Given the description of an element on the screen output the (x, y) to click on. 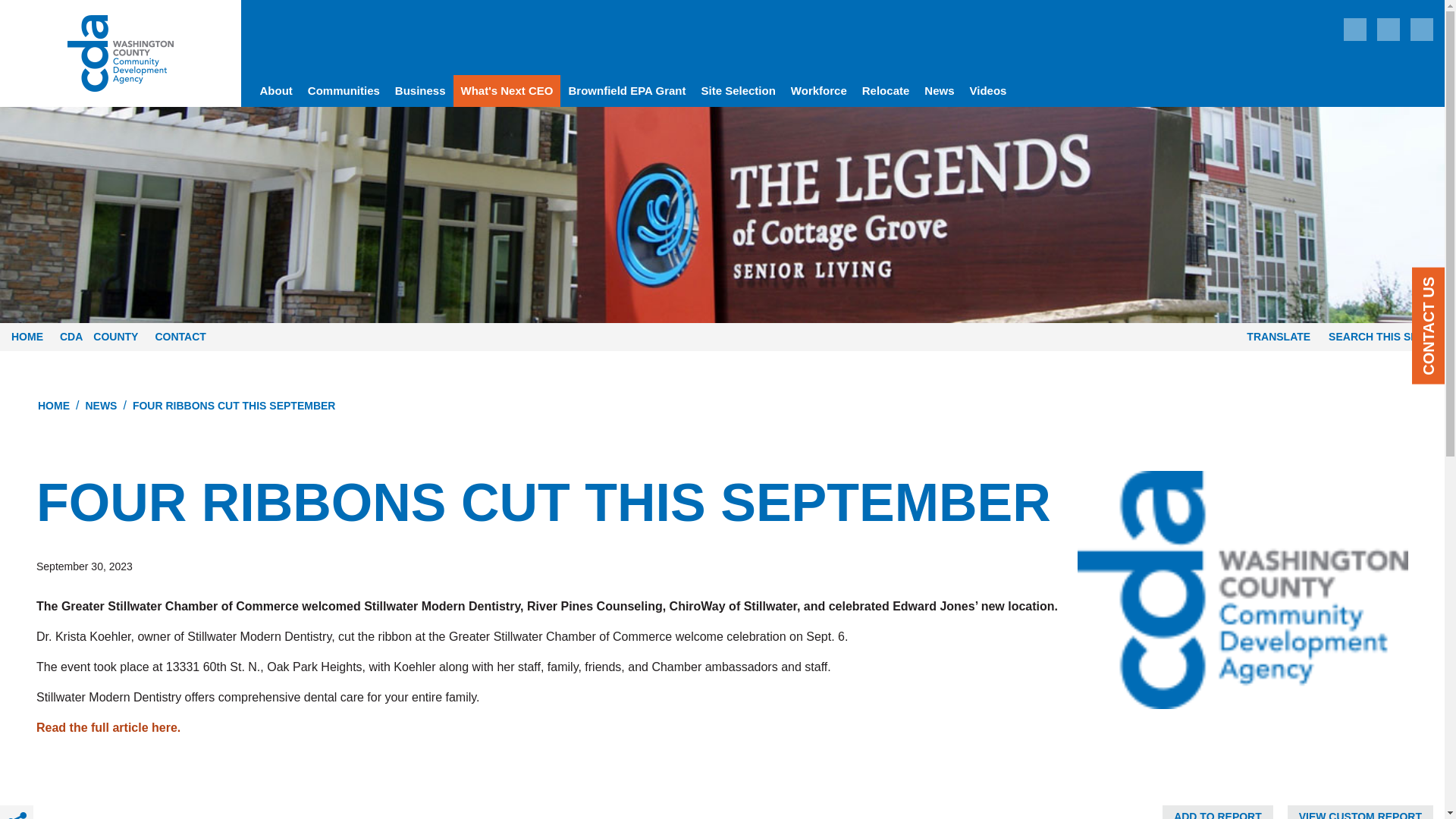
Linkedin (1355, 29)
Communities (343, 90)
About (275, 90)
What'S Next CEO (506, 90)
Twitter (1421, 29)
Business (419, 90)
Facebook (1388, 29)
